Given the description of an element on the screen output the (x, y) to click on. 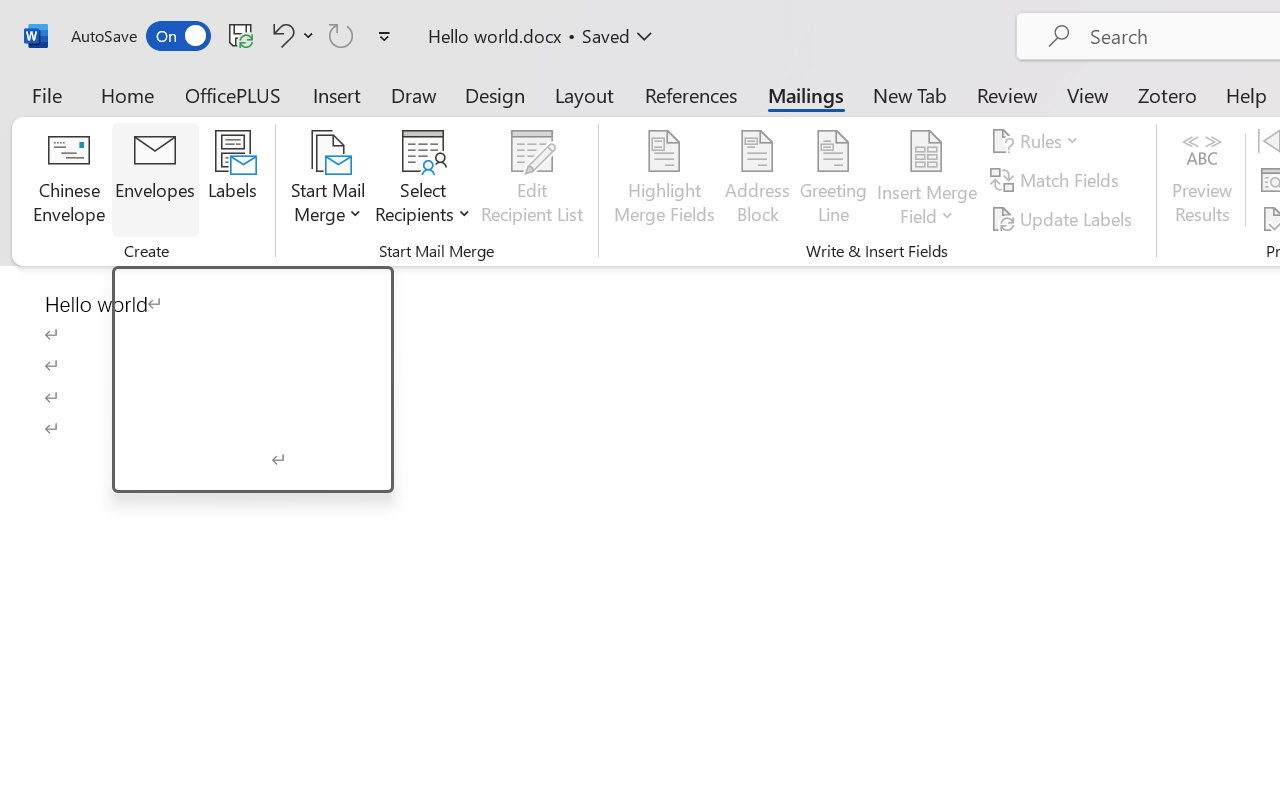
View (1087, 94)
AutoSave (140, 35)
Rules (1037, 141)
Match Fields... (1057, 179)
Greeting Line... (833, 179)
Mailings (806, 94)
Insert Merge Field (927, 179)
Preview Results (1202, 179)
Undo Click and Type Formatting (290, 35)
Home (127, 94)
Start Mail Merge (328, 179)
Highlight Merge Fields (664, 179)
New Tab (909, 94)
Customize Quick Access Toolbar (384, 35)
